Given the description of an element on the screen output the (x, y) to click on. 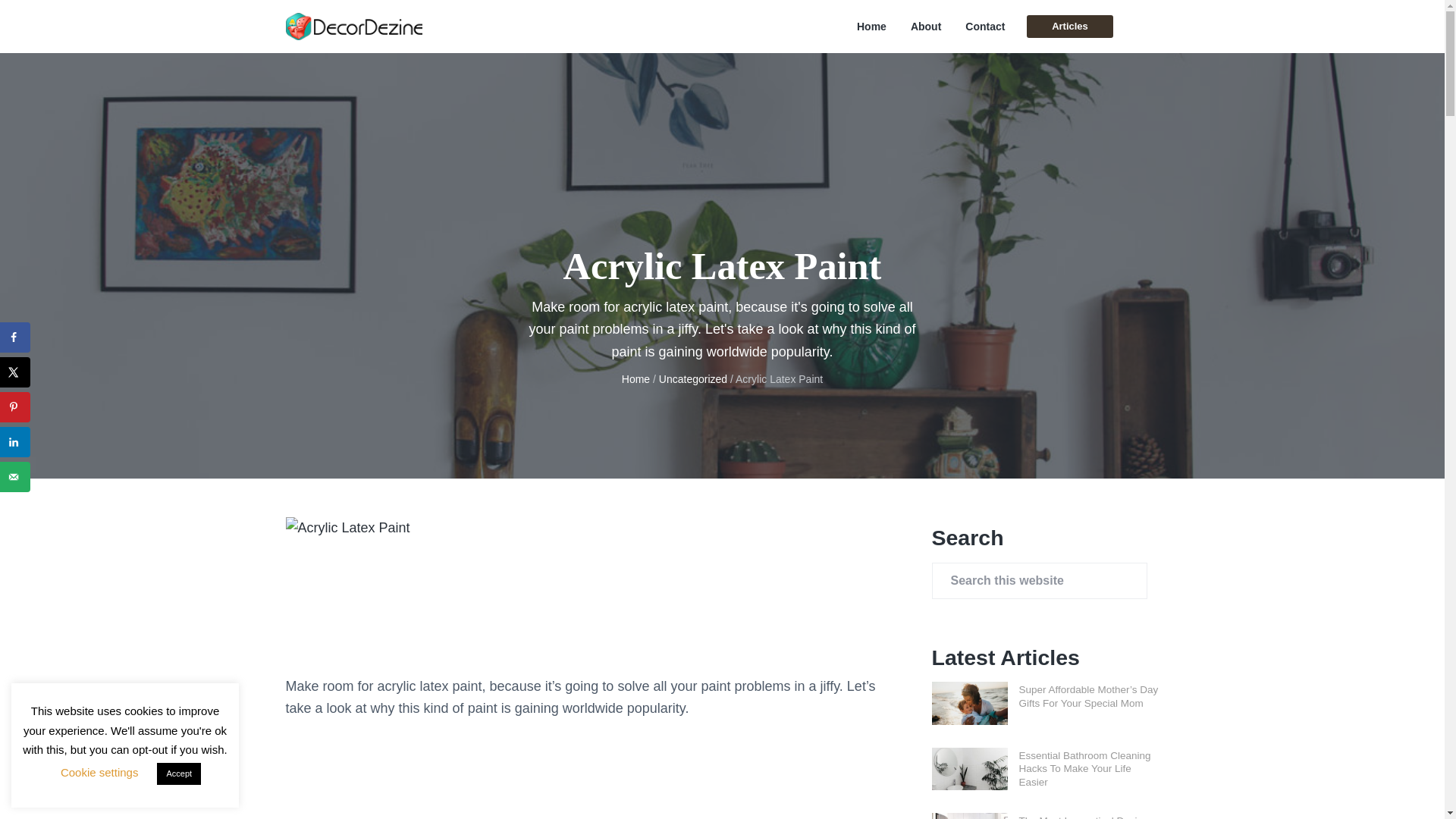
Home (635, 378)
Uncategorized (692, 378)
Share on Facebook (15, 337)
About (925, 27)
Contact (984, 27)
Articles (1068, 25)
Home (871, 27)
Search (60, 18)
